Given the description of an element on the screen output the (x, y) to click on. 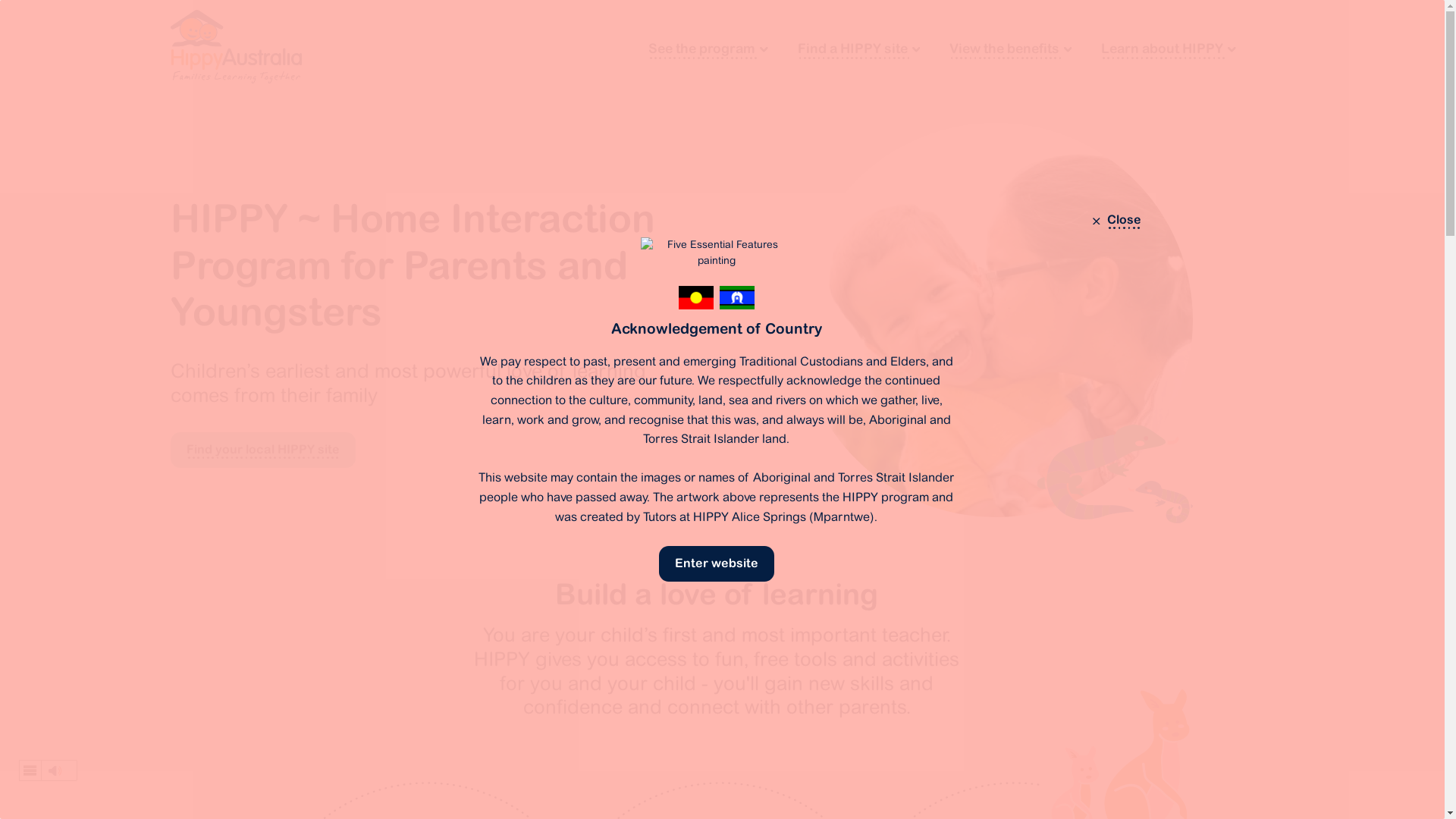
See the program Element type: text (707, 48)
webReader menu Element type: hover (29, 770)
Learn about HIPPY Element type: text (1168, 48)
Find a HIPPY site Element type: text (858, 48)
Listen to this page using ReadSpeaker webReader Element type: hover (47, 770)
Enter website Element type: text (716, 563)
Find your local HIPPY site Element type: text (262, 449)
HIPPY Australia Element type: hover (235, 46)
View the benefits Element type: text (1009, 48)
Close Element type: text (1114, 219)
